Given the description of an element on the screen output the (x, y) to click on. 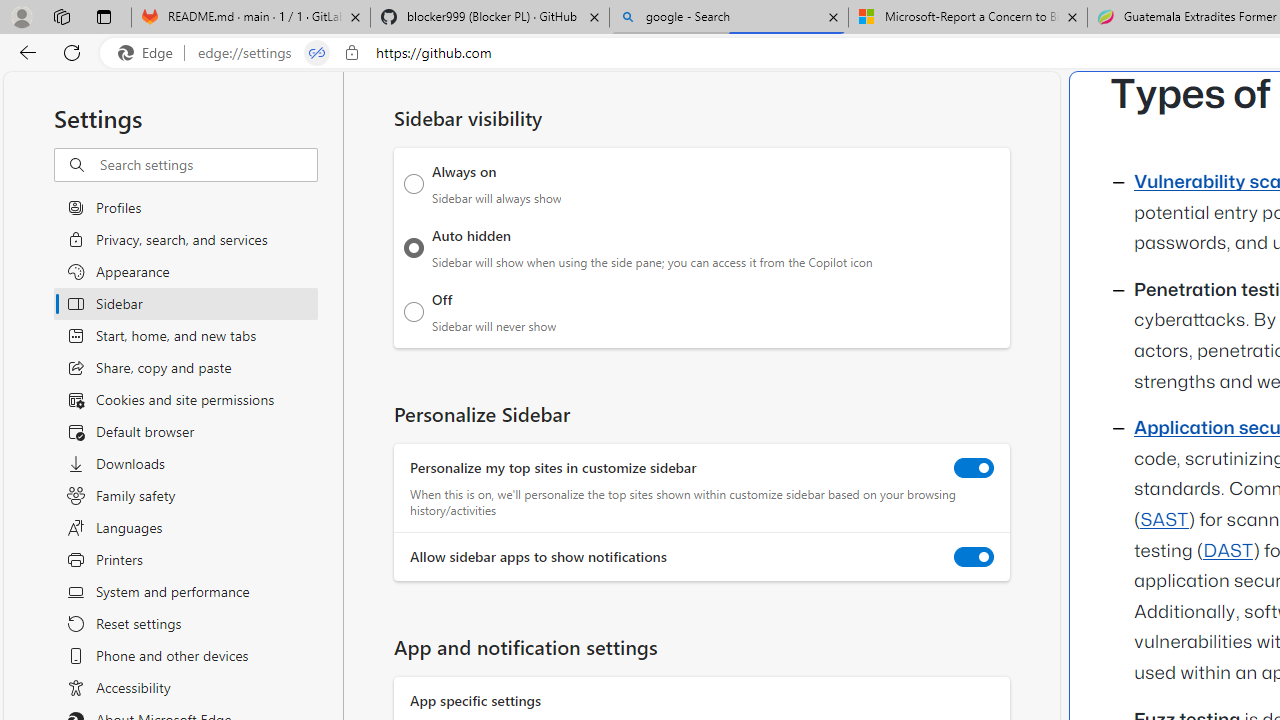
Allow sidebar apps to show notifications (973, 557)
DAST (1228, 551)
Tabs in split screen (317, 53)
